Given the description of an element on the screen output the (x, y) to click on. 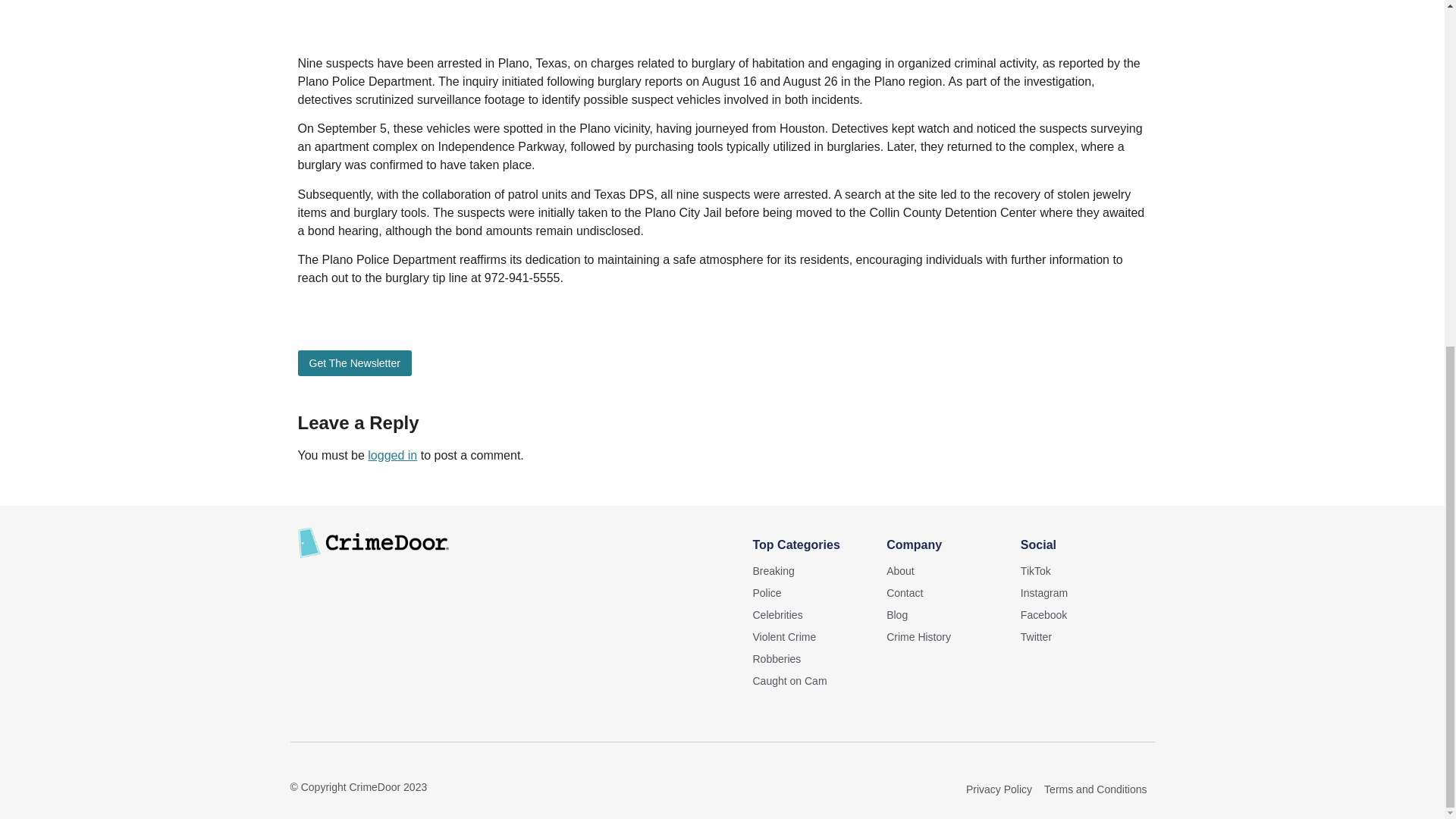
logged in (392, 454)
Get The Newsletter (353, 362)
